Given the description of an element on the screen output the (x, y) to click on. 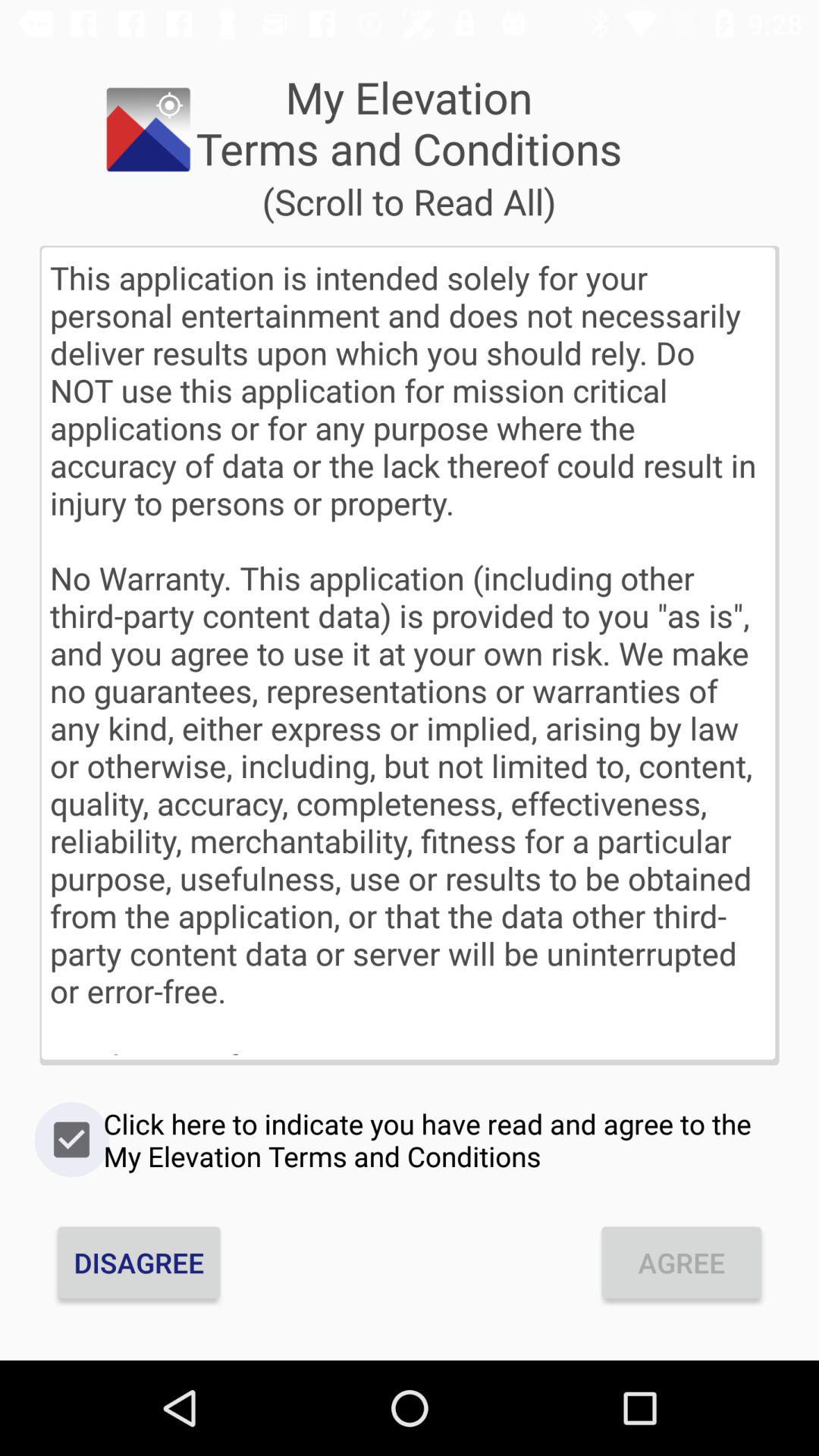
flip to the click here to icon (409, 1140)
